Given the description of an element on the screen output the (x, y) to click on. 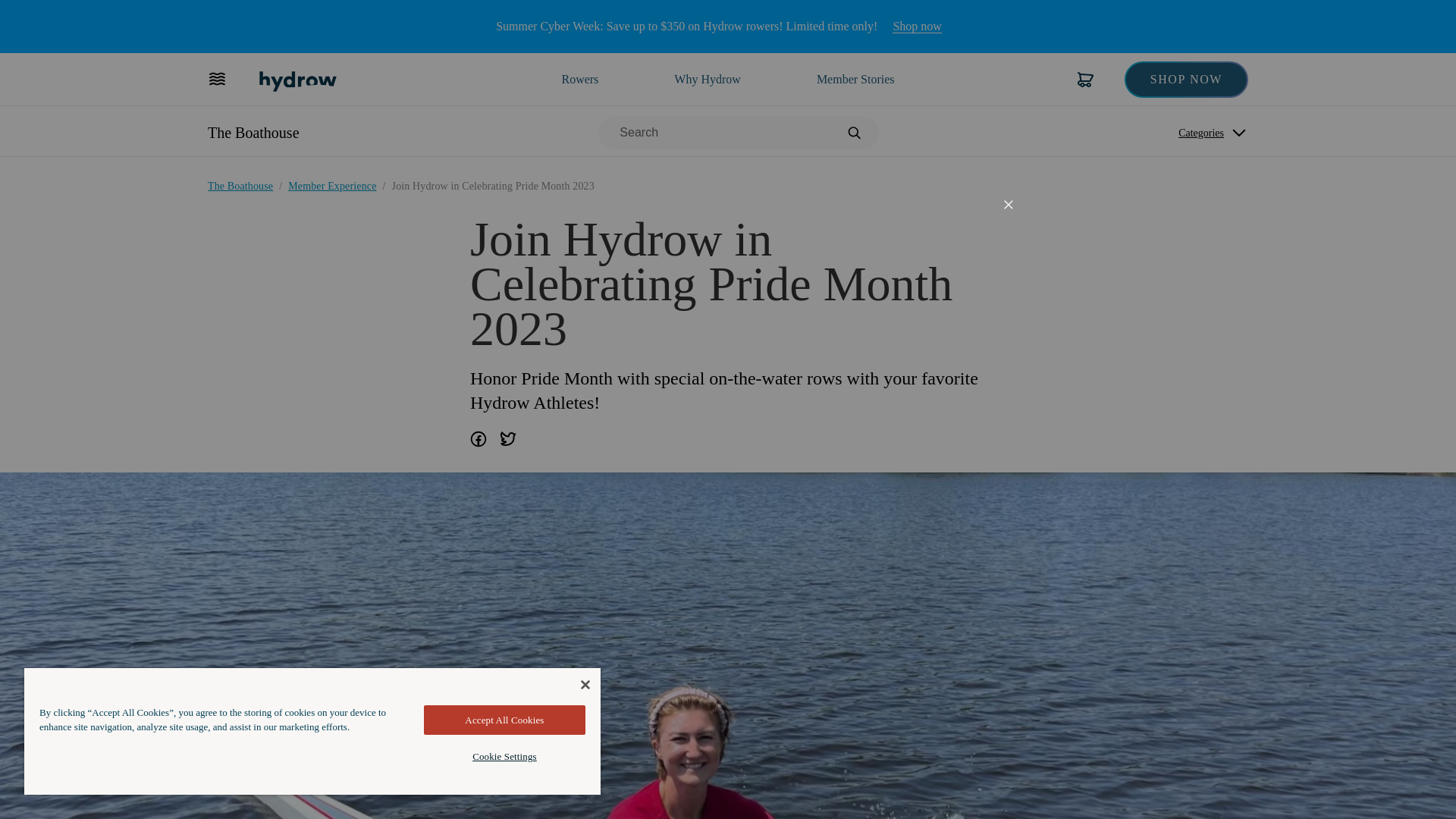
The Boathouse (253, 132)
Close (1008, 204)
Member Stories (855, 79)
SHOP NOW (1185, 79)
Rowers (916, 26)
Why Hydrow (579, 79)
